Given the description of an element on the screen output the (x, y) to click on. 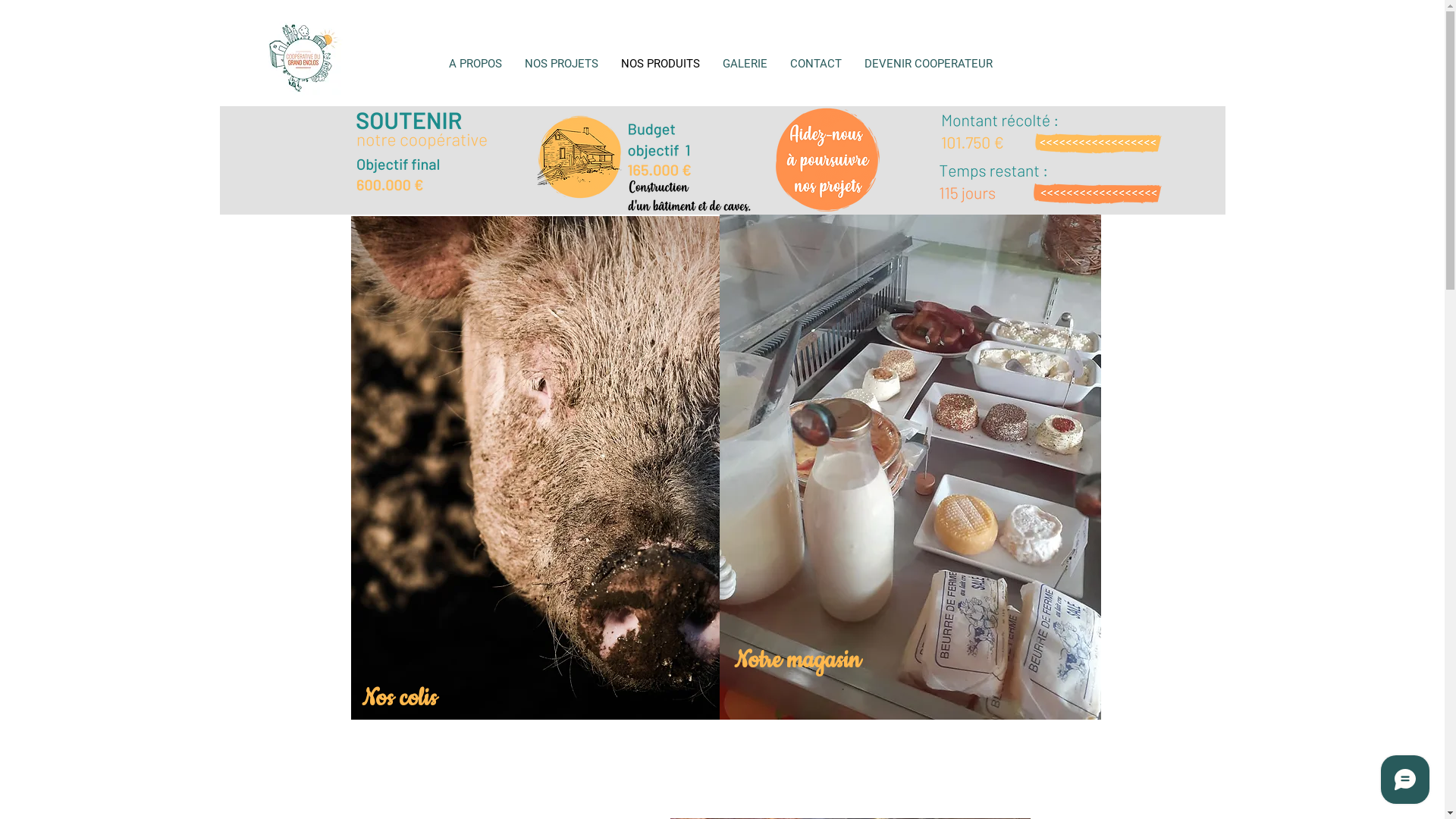
NOS PRODUITS Element type: text (660, 63)
GALERIE Element type: text (744, 63)
CONTACT Element type: text (815, 63)
DEVENIR COOPERATEUR Element type: text (928, 63)
NOS PROJETS Element type: text (561, 63)
